Given the description of an element on the screen output the (x, y) to click on. 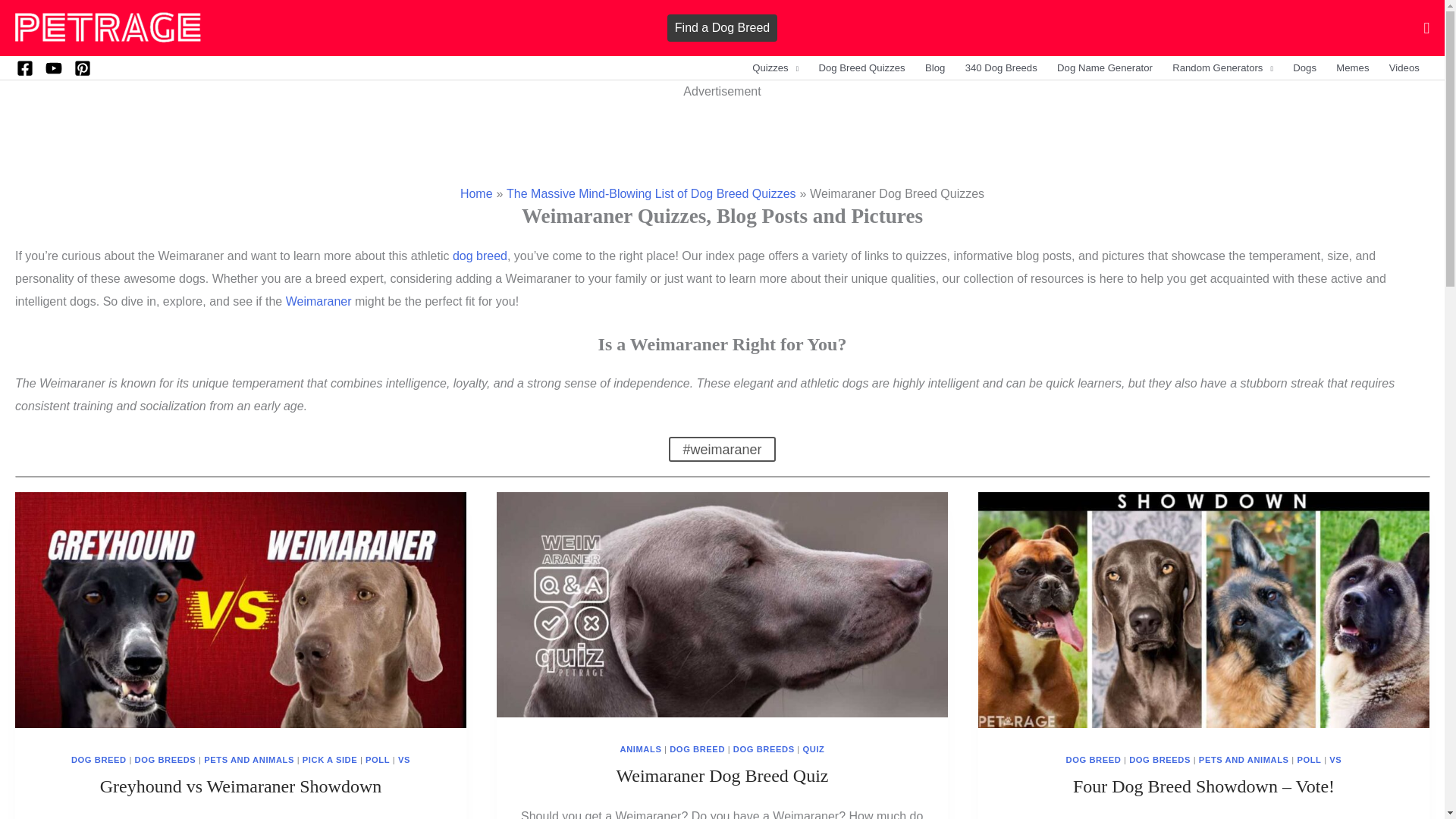
Blog (935, 67)
Find a Dog Breed (721, 27)
Random Generators (1221, 67)
Dog Name Generator (1103, 67)
340 Dog Breeds (1000, 67)
Memes (1352, 67)
Dog Breed Quizzes (861, 67)
Advertisement (721, 137)
Search (48, 28)
Videos (1403, 67)
Dogs (1304, 67)
Quizzes (775, 67)
